Given the description of an element on the screen output the (x, y) to click on. 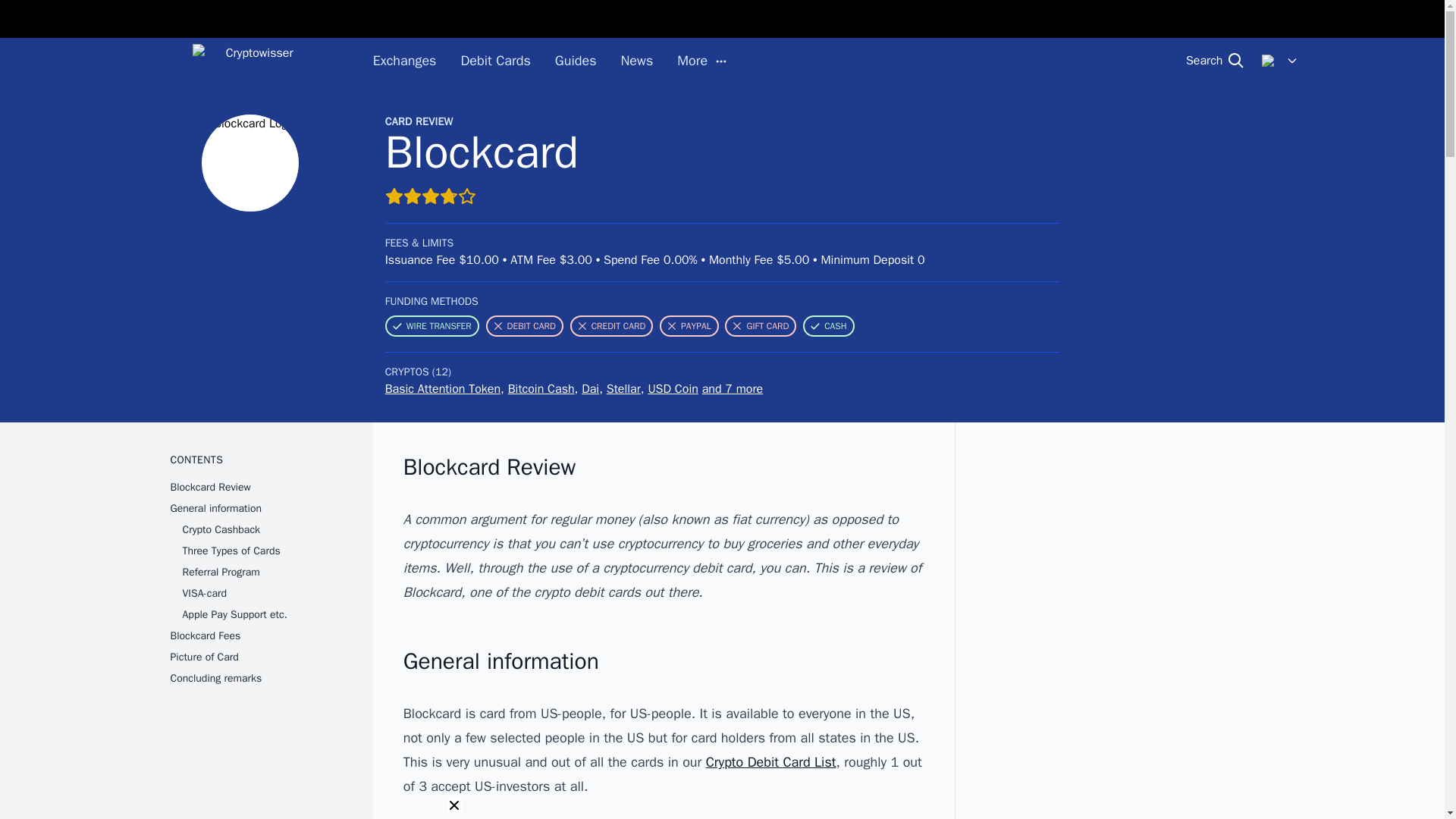
Debit Cards (494, 60)
Choose Language (1279, 60)
Search (1214, 60)
Cryptowisser (253, 60)
Guides (575, 60)
Exchanges (404, 60)
More (701, 60)
News (636, 60)
